Given the description of an element on the screen output the (x, y) to click on. 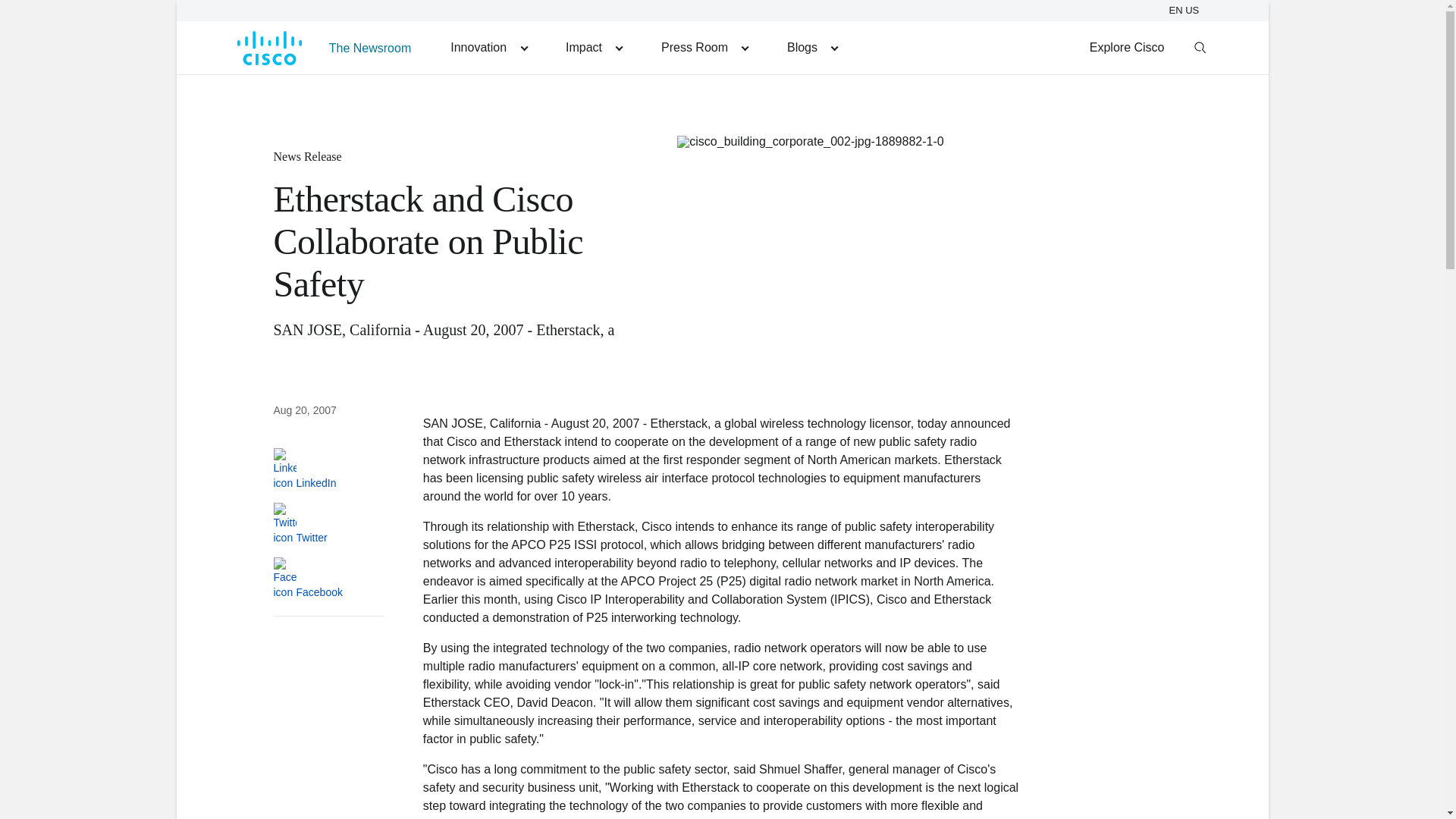
Impact (593, 47)
Press Room (704, 47)
EN US (1185, 10)
Impact (593, 47)
Explore Cisco (1126, 47)
Media Center (704, 47)
Innovation (488, 47)
Blogs (811, 47)
Innovation (488, 47)
The Newsroom (370, 47)
Blogs (811, 47)
